Given the description of an element on the screen output the (x, y) to click on. 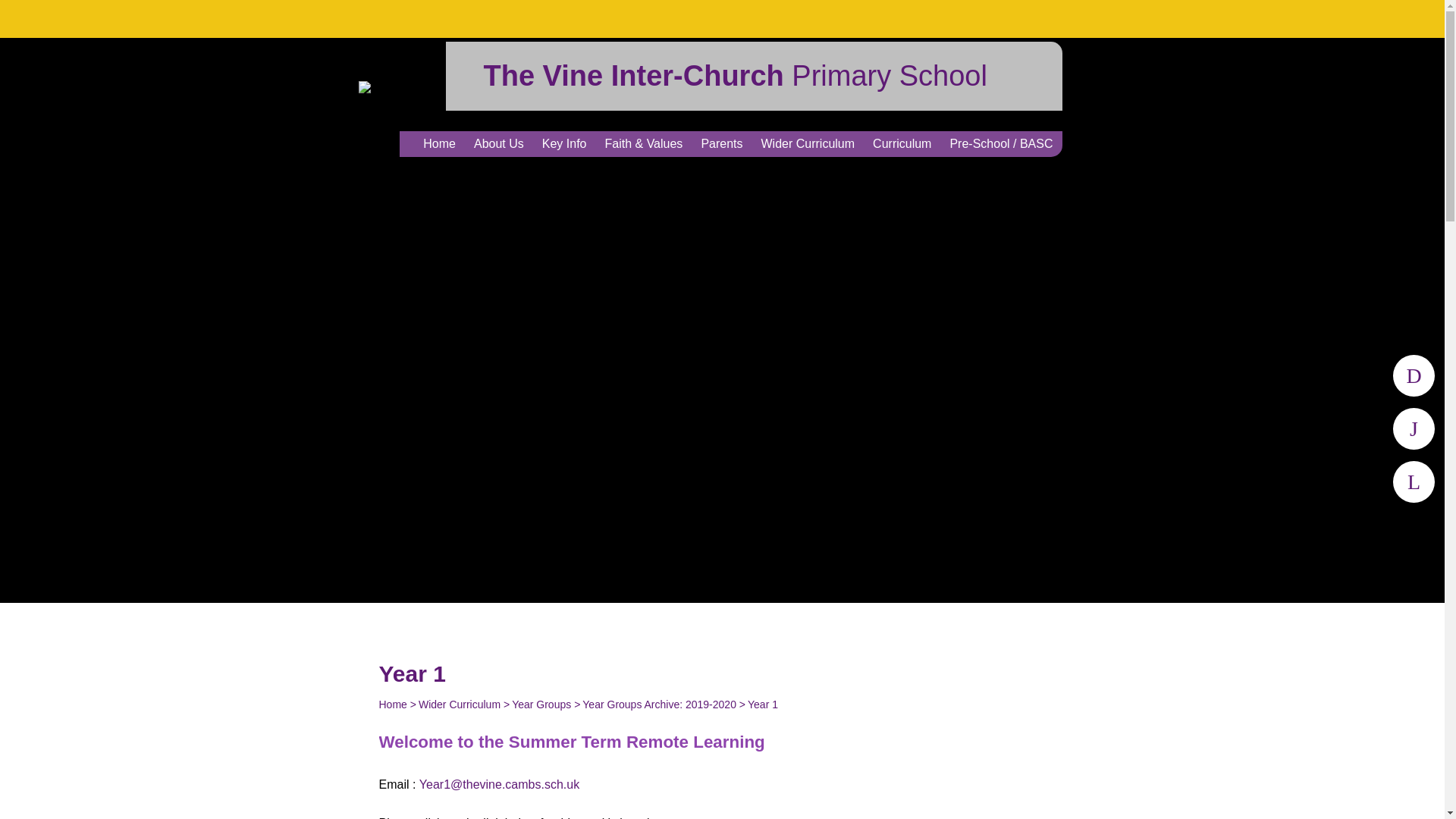
About Us (498, 144)
Log in (1413, 375)
Home Page (413, 87)
Key Info (563, 144)
Home (438, 144)
